Given the description of an element on the screen output the (x, y) to click on. 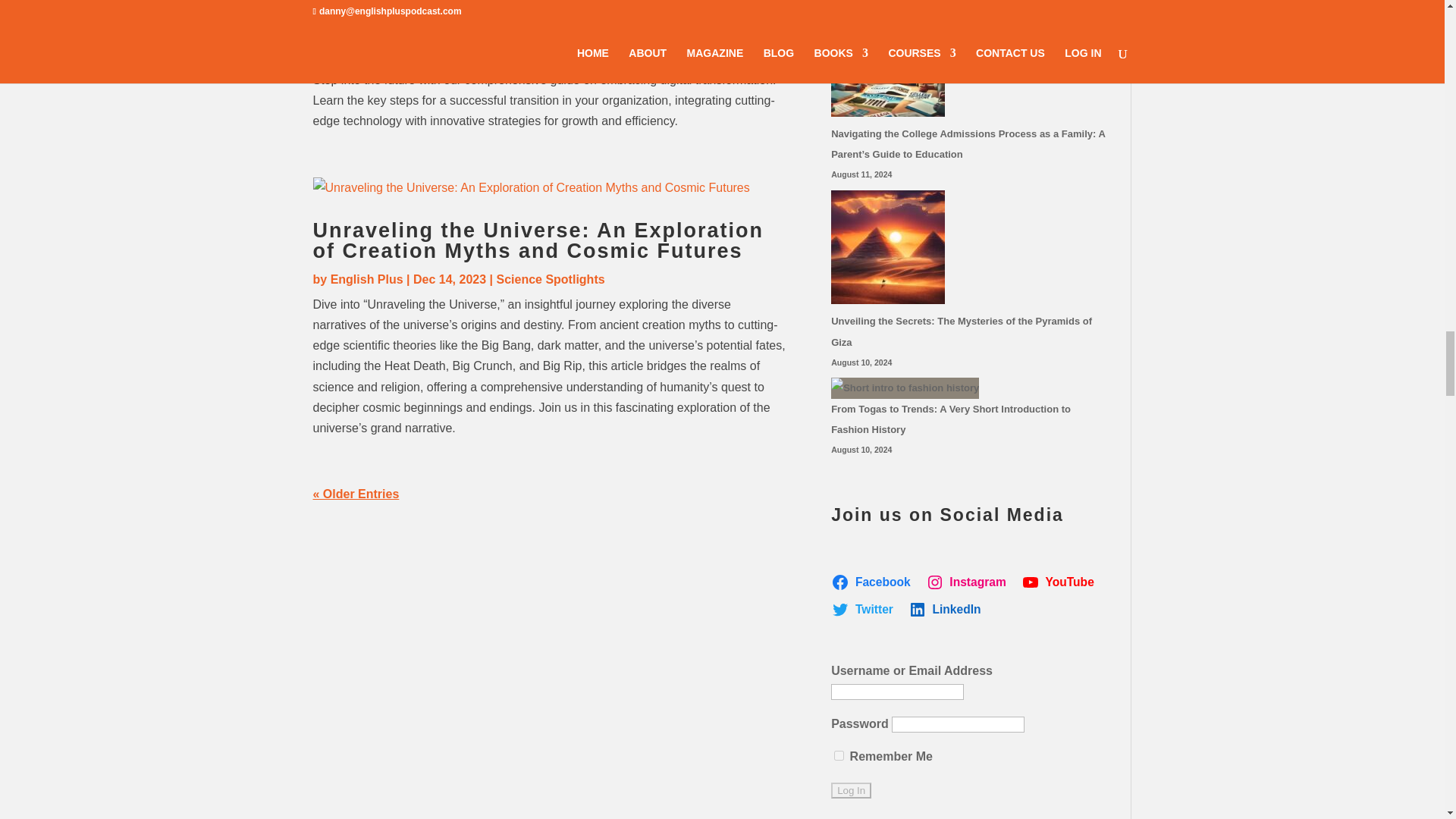
Posts by English Plus (366, 278)
Posts by English Plus (366, 54)
Log In (850, 790)
forever (839, 755)
